Given the description of an element on the screen output the (x, y) to click on. 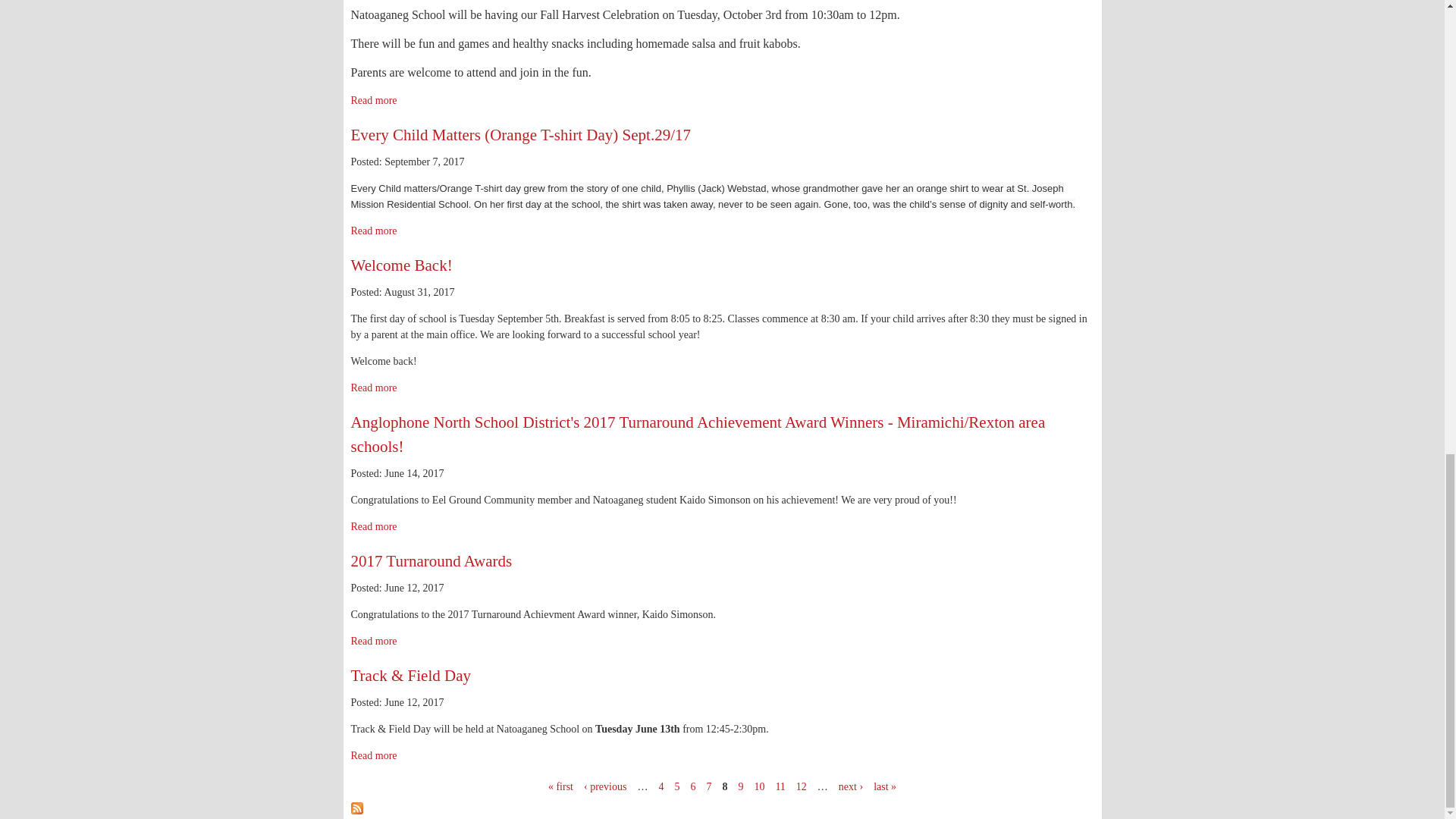
Read more (373, 641)
Read more (373, 387)
Read more (373, 100)
Welcome Back! (400, 265)
Go to previous page (604, 786)
Read more (373, 230)
Read more (373, 526)
Go to first page (560, 786)
2017 Turnaround Awards (431, 561)
Read more (373, 755)
Go to page 10 (759, 786)
